Given the description of an element on the screen output the (x, y) to click on. 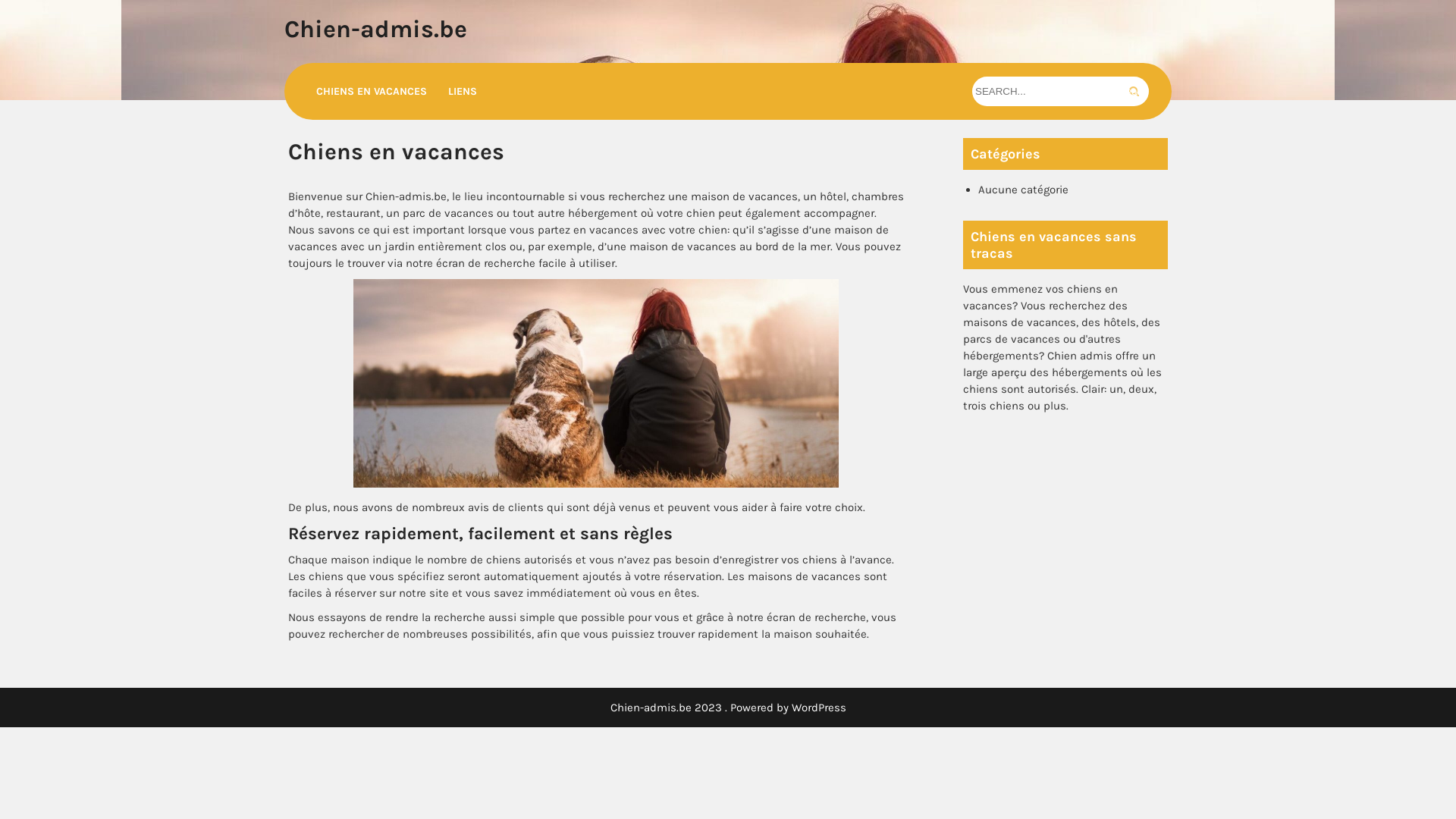
CHIENS EN VACANCES Element type: text (371, 91)
LIENS Element type: text (462, 91)
Search Element type: text (1133, 91)
Chien-admis.be Element type: text (375, 29)
Chien-admis.be 2023 . Powered by WordPress Element type: text (727, 707)
